Given the description of an element on the screen output the (x, y) to click on. 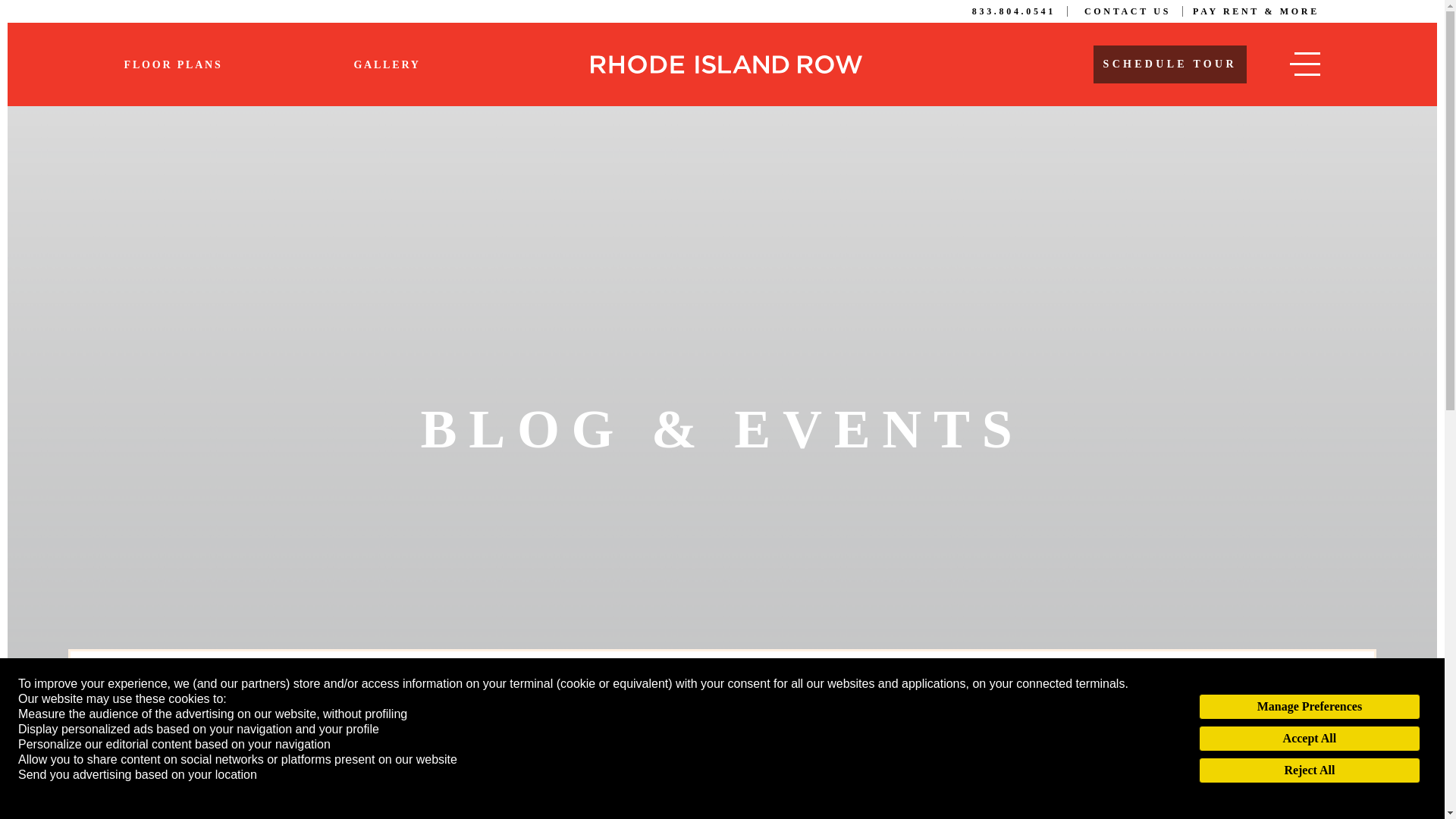
Accept All (1309, 738)
GALLERY (386, 64)
833.804.0541 (1019, 10)
FLOOR PLANS (172, 64)
SCHEDULE TOUR (1169, 64)
Manage Preferences (1309, 706)
Reject All (1309, 769)
CONTACT US (1133, 10)
Privacy Policy (55, 789)
